Given the description of an element on the screen output the (x, y) to click on. 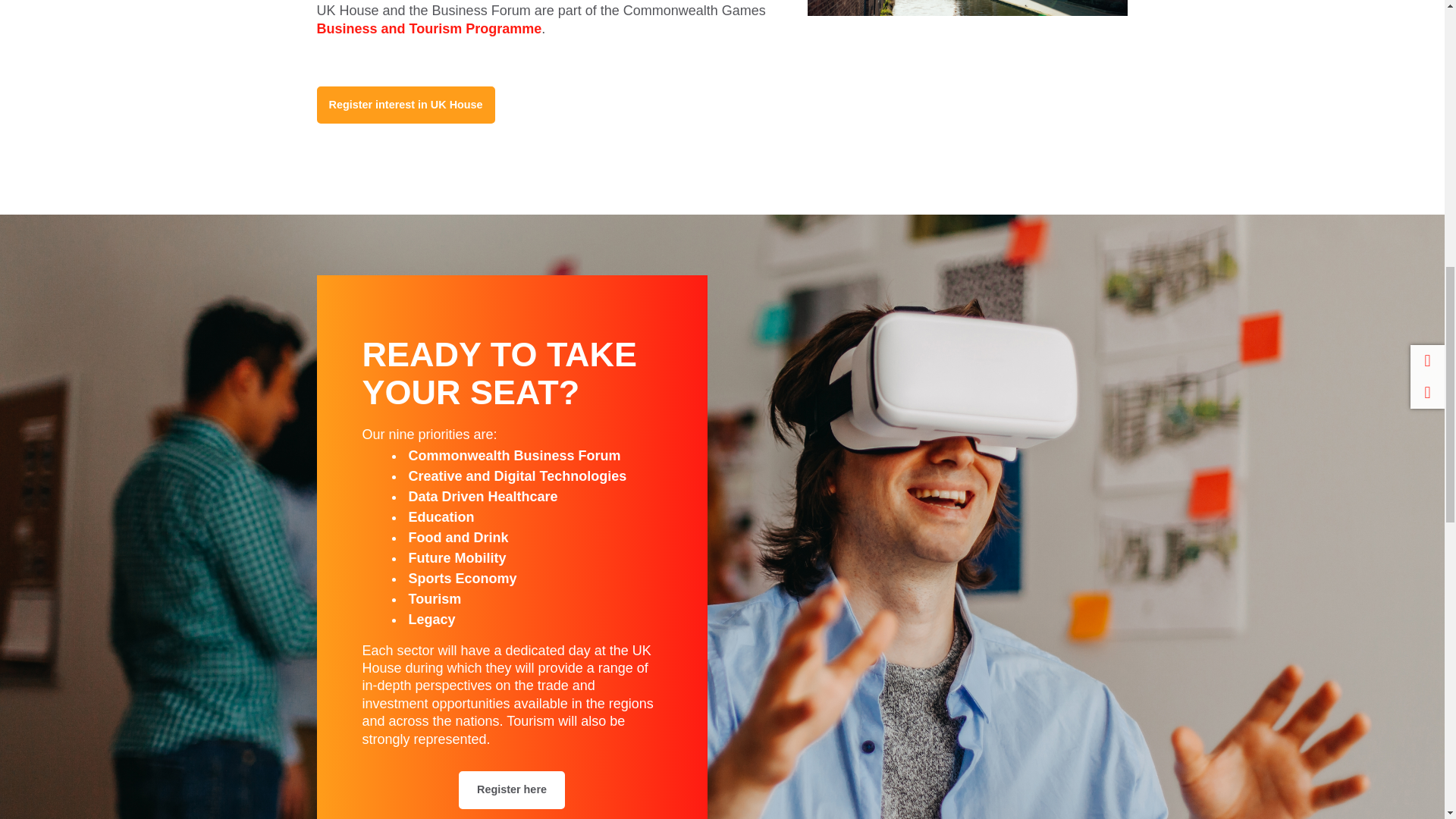
Food and Drink (457, 537)
Tourism (434, 598)
Data Driven Healthcare (482, 496)
Sports Economy (461, 578)
Future Mobility (456, 557)
Register here (511, 790)
Register interest in UK House (406, 105)
Commonwealth Business Forum (513, 455)
Education (440, 516)
Business and Tourism Programme (429, 28)
Creative and Digital Technologies (516, 476)
Legacy (430, 619)
